Given the description of an element on the screen output the (x, y) to click on. 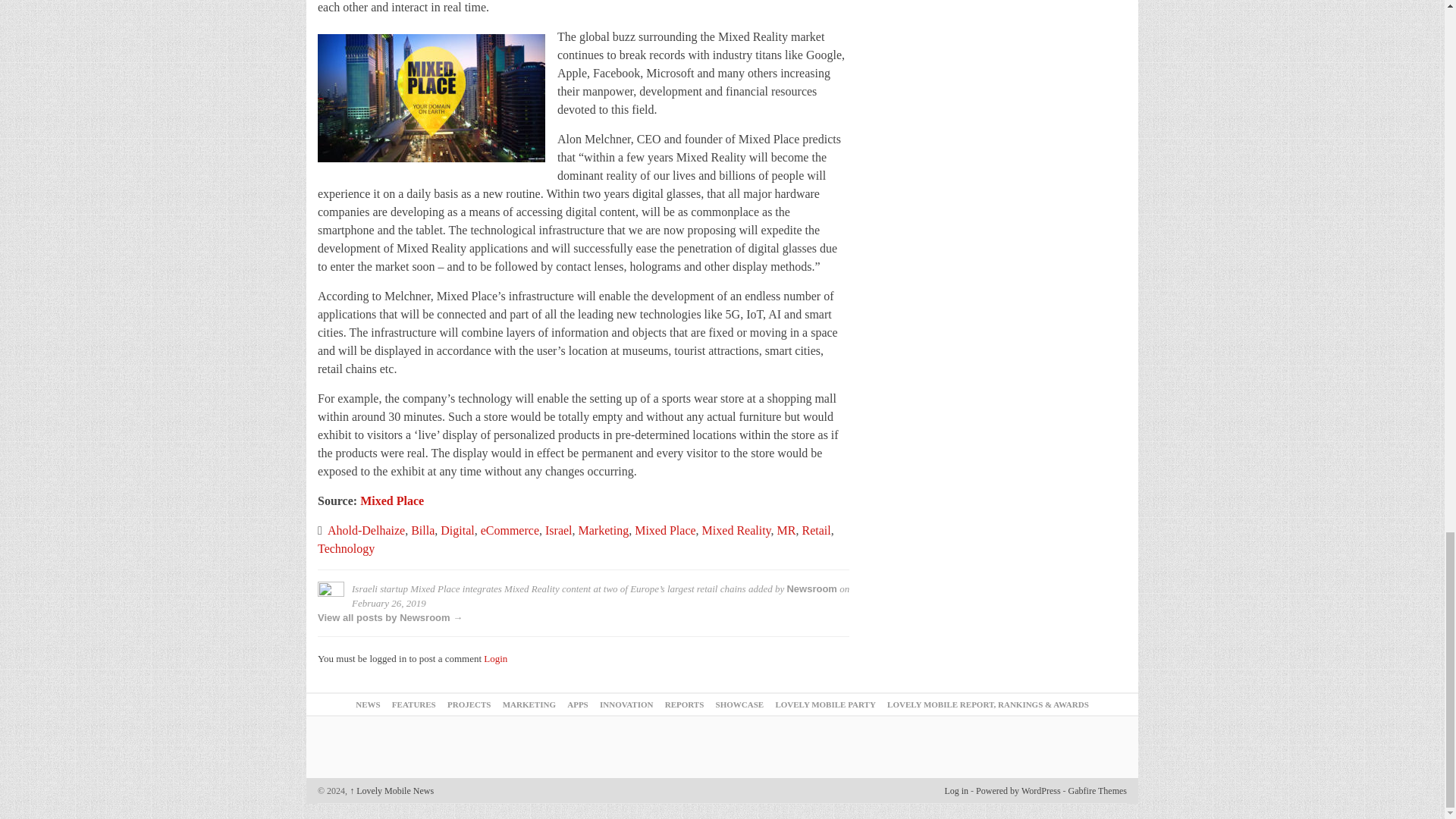
Israel (558, 530)
Mixed Place (391, 500)
eCommerce (509, 530)
Ahold-Delhaize (365, 530)
Lovely Mobile News (391, 790)
Billa (421, 530)
Digital (457, 530)
